Given the description of an element on the screen output the (x, y) to click on. 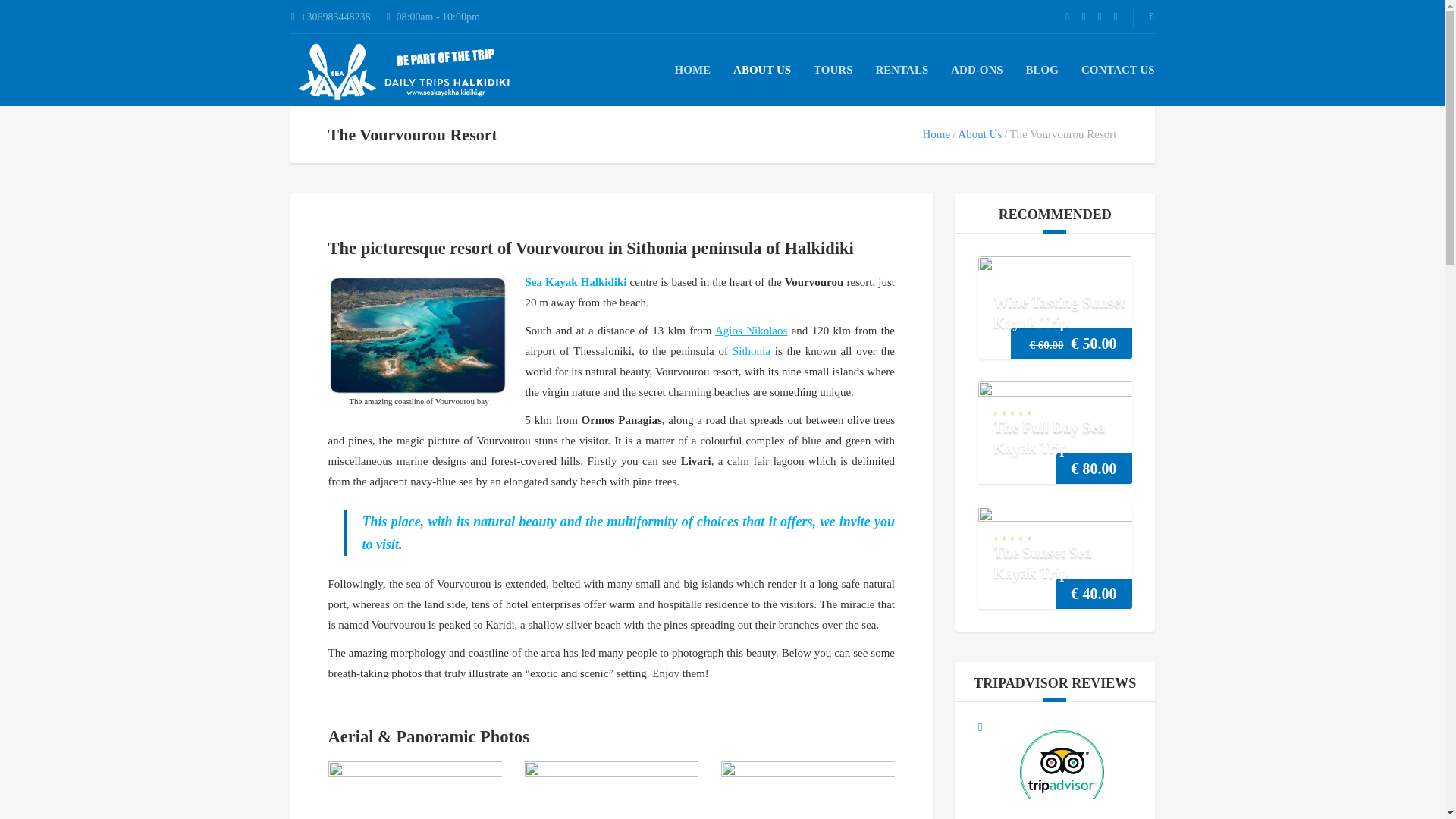
ADD-ONS (976, 69)
ABOUT US (761, 69)
CONTACT US (1117, 69)
TOURS (832, 69)
HOME (693, 69)
Agios Nikolaos (750, 330)
The amazing coastline of Vourvourou bay (416, 335)
About Us (979, 133)
BLOG (1042, 69)
Home (935, 133)
